Given the description of an element on the screen output the (x, y) to click on. 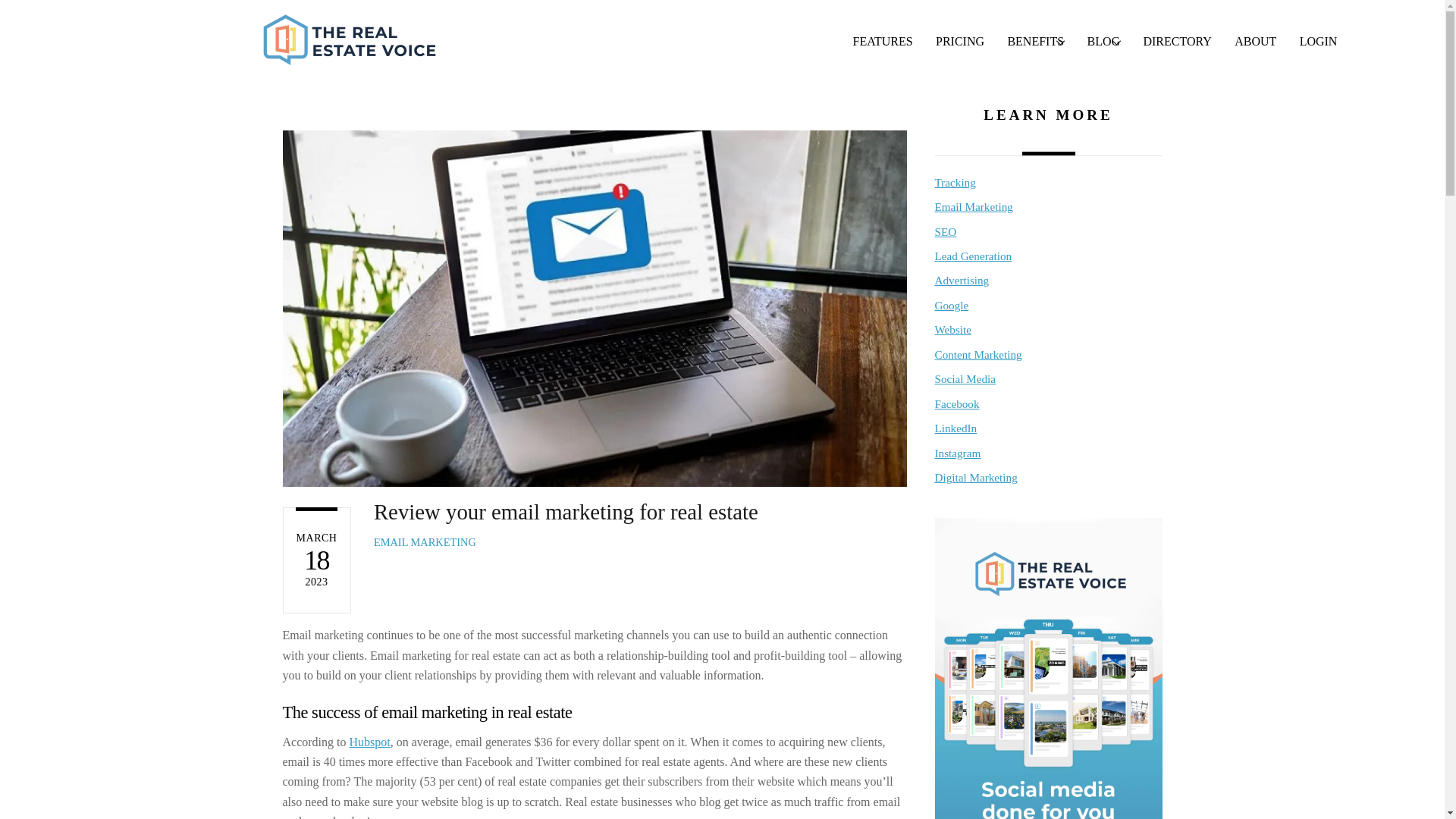
DIRECTORY (1177, 42)
Review your email marketing for real estate (566, 511)
Hubspot (369, 741)
Tracking (954, 182)
LOGIN (1317, 42)
BLOG (1103, 42)
PRICING (959, 42)
EMAIL MARKETING (425, 541)
FEATURES (882, 42)
ABOUT (1255, 42)
Email Marketing (1094, 42)
BENEFITS (972, 205)
How to maximise your email marketing campaign (1035, 42)
